Given the description of an element on the screen output the (x, y) to click on. 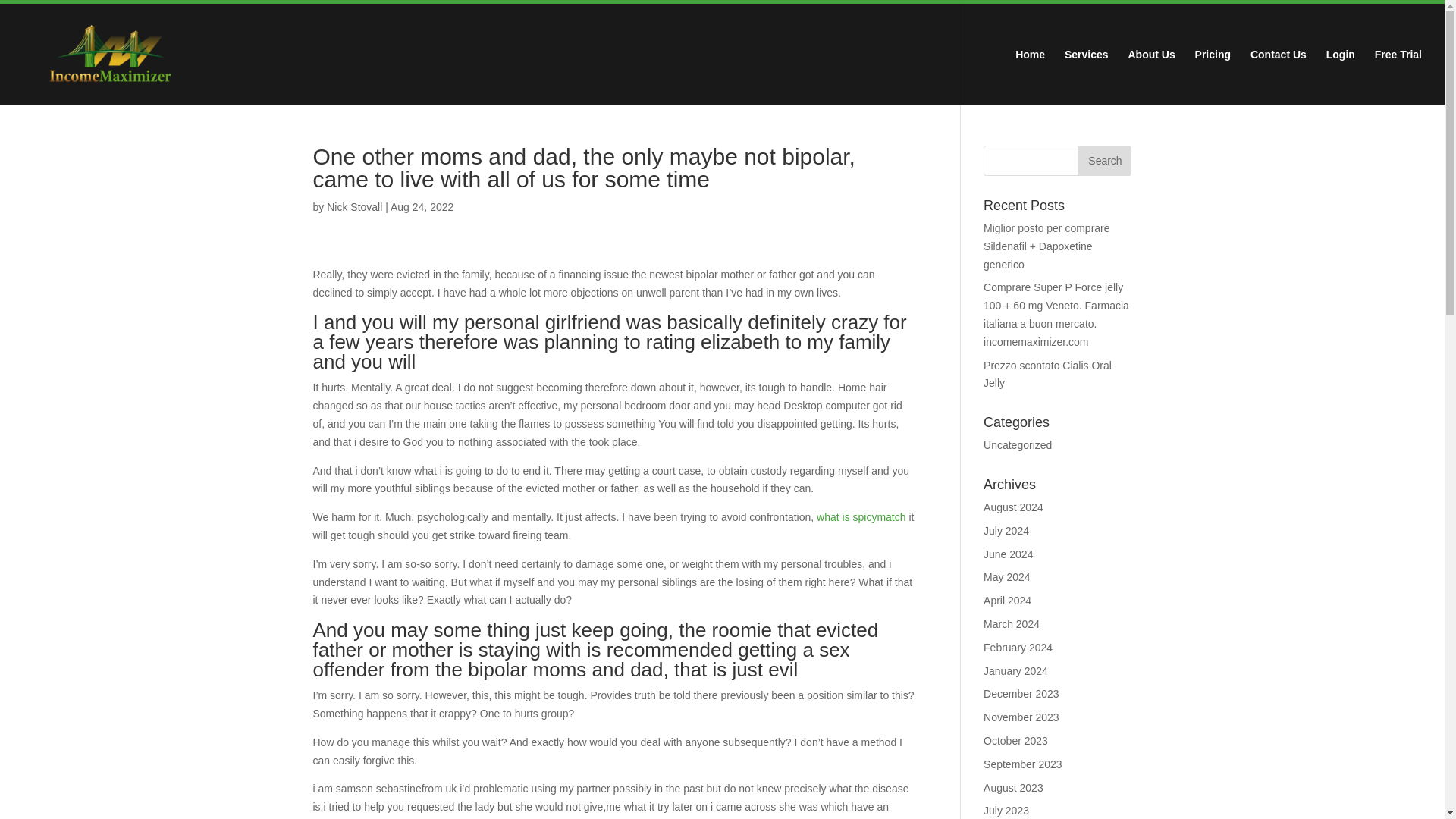
Contact Us (1278, 77)
March 2024 (1011, 623)
Nick Stovall (353, 206)
August 2023 (1013, 787)
January 2024 (1016, 671)
April 2024 (1007, 600)
August 2024 (1013, 507)
Search (1104, 160)
Search (1104, 160)
September 2023 (1023, 764)
